Given the description of an element on the screen output the (x, y) to click on. 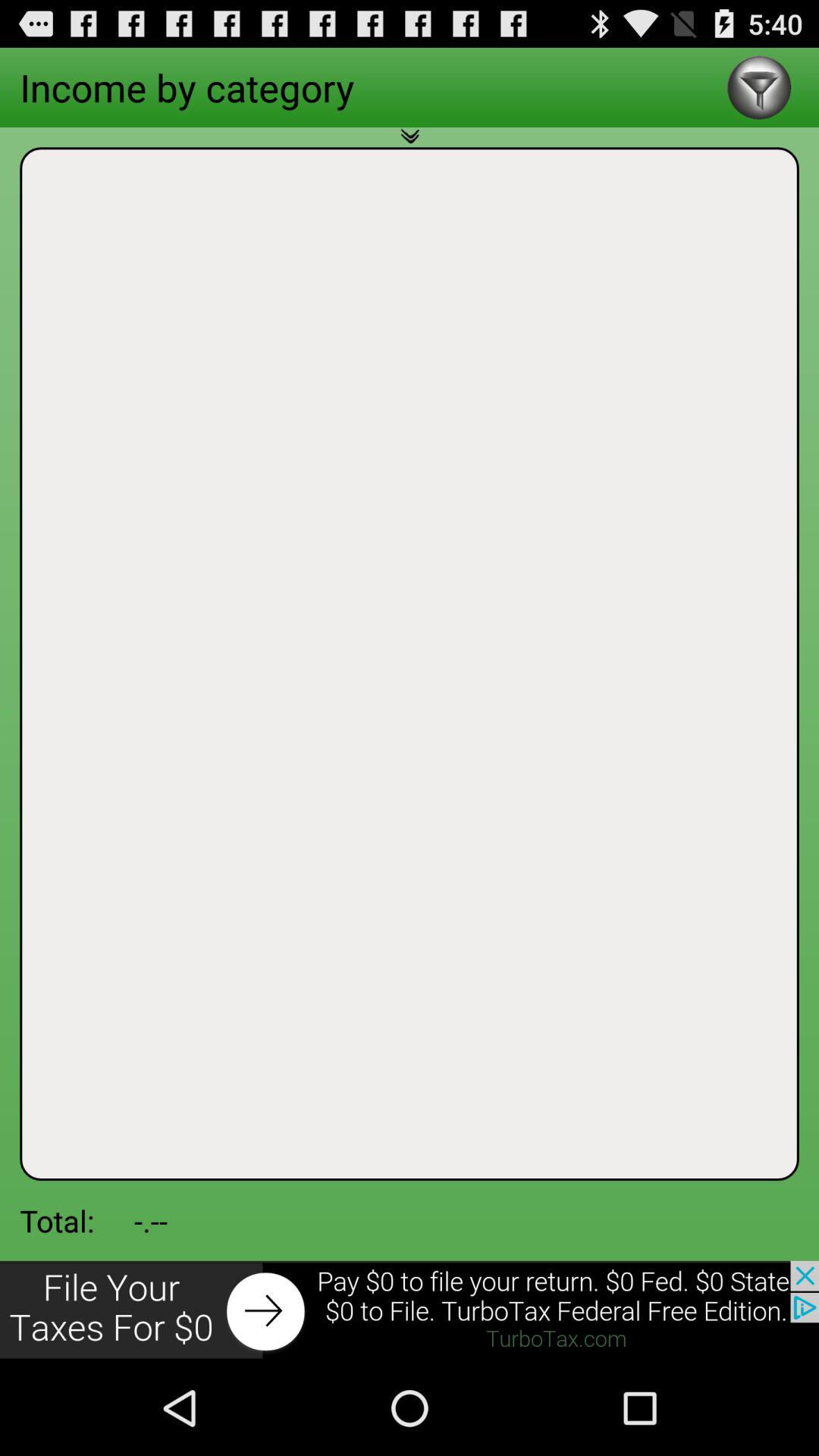
pulldown list (409, 145)
